Given the description of an element on the screen output the (x, y) to click on. 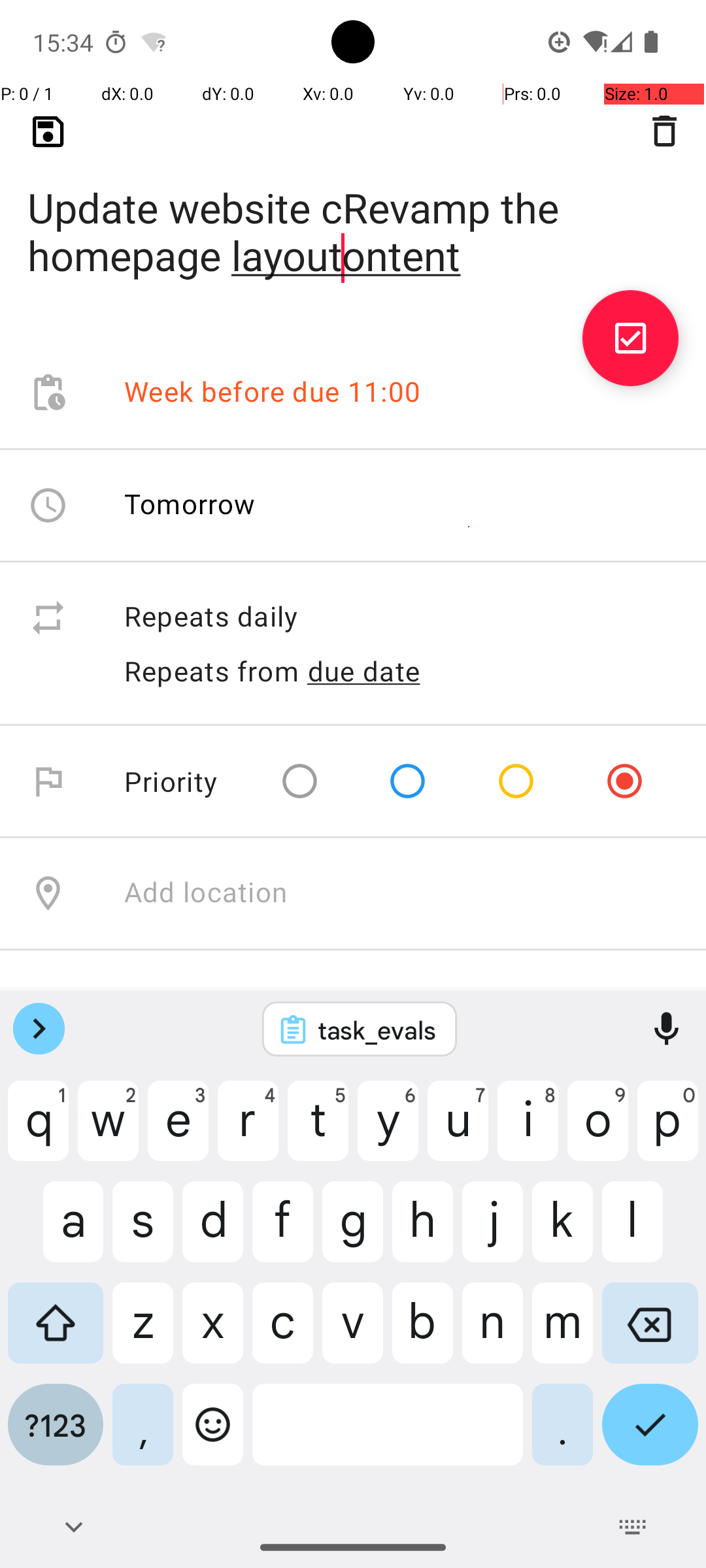
Update website cRevamp the homepage layoutontent Element type: android.widget.EditText (353, 210)
Week before due 11:00 Element type: android.widget.TextView (272, 392)
Repeats daily Element type: android.widget.TextView (400, 617)
